Given the description of an element on the screen output the (x, y) to click on. 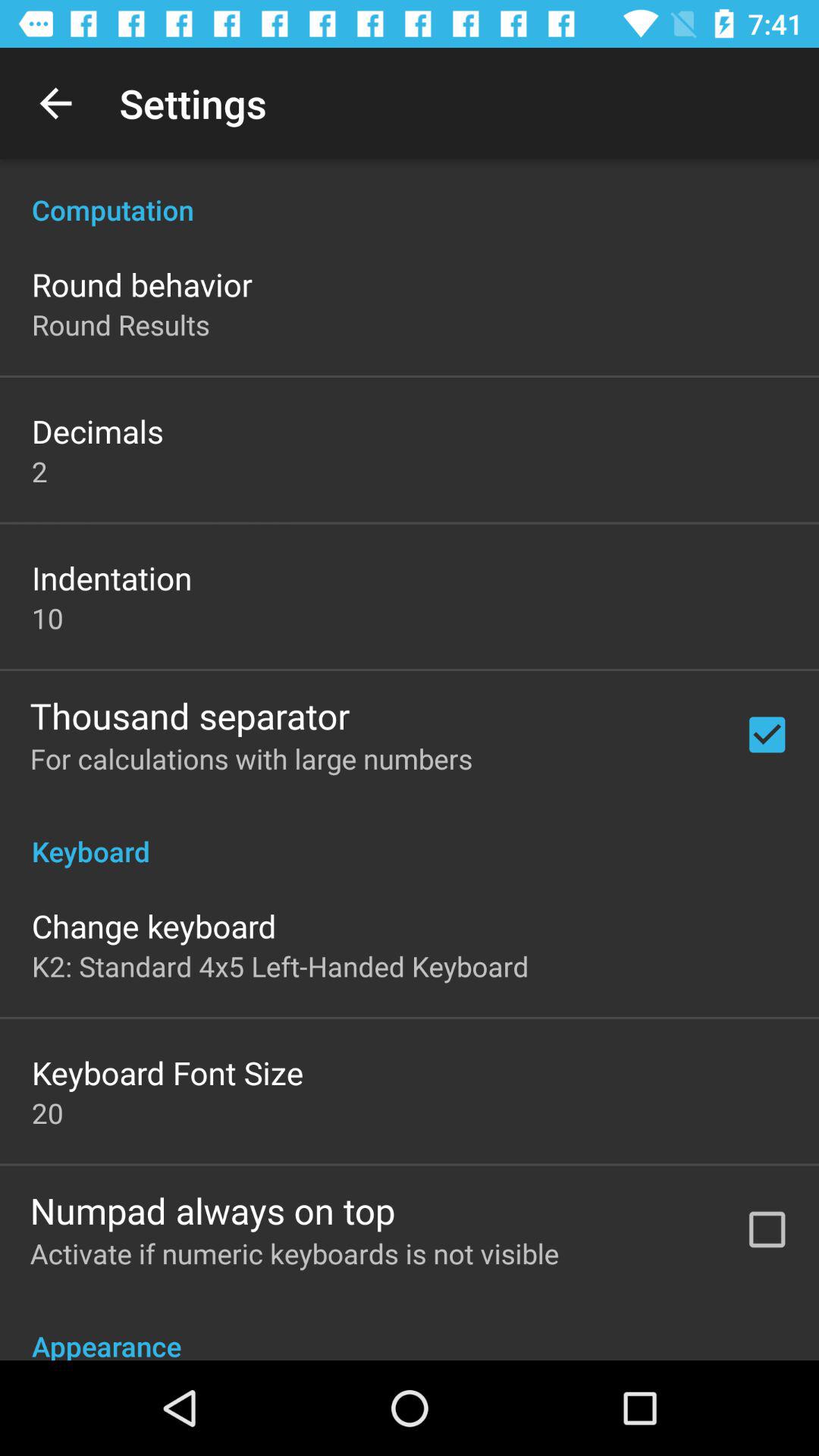
turn on the indentation icon (111, 577)
